Given the description of an element on the screen output the (x, y) to click on. 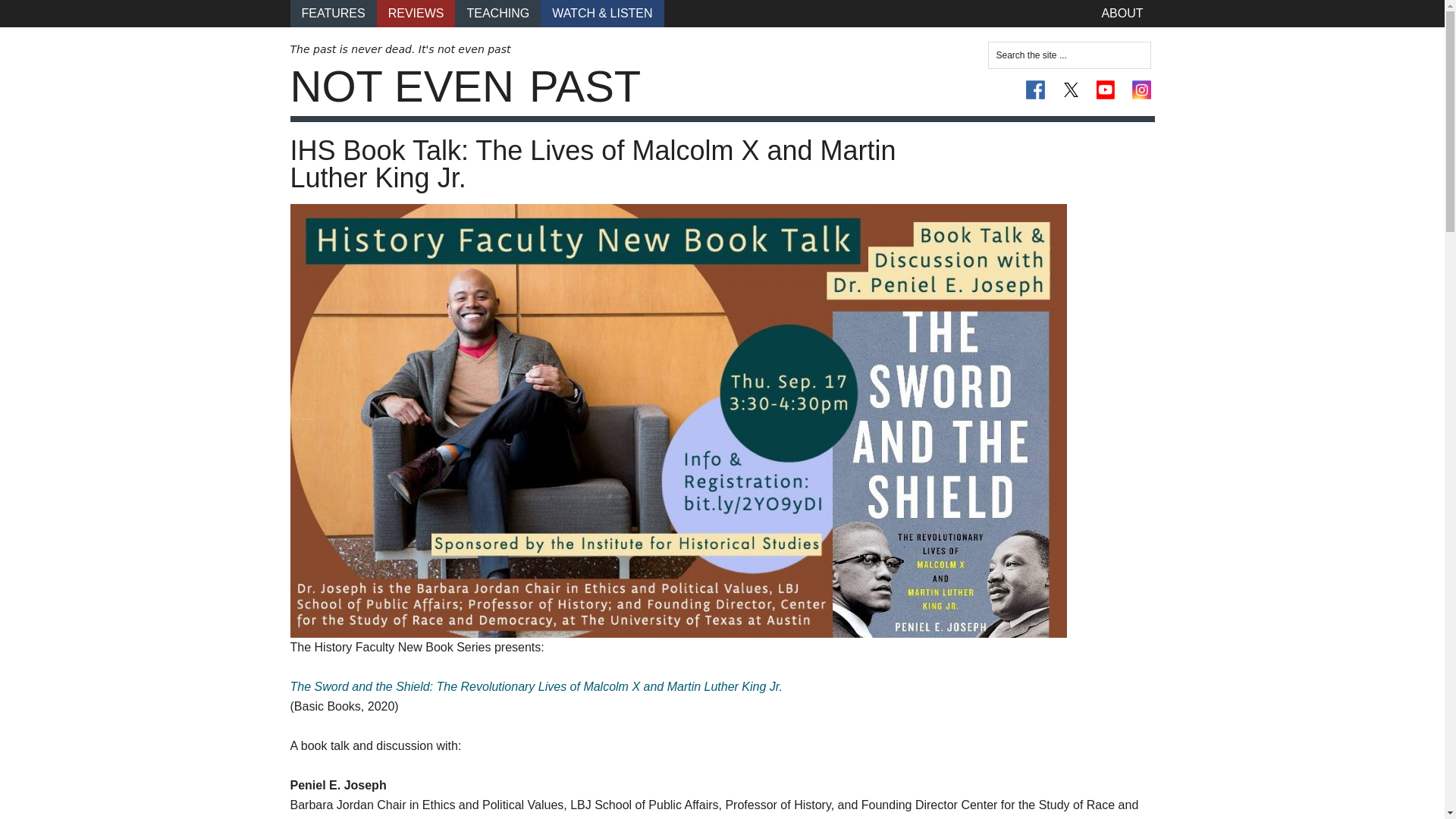
YouTube Channel (1105, 89)
NOT EVEN PAST (464, 85)
Instagram (1140, 89)
TEACHING (497, 13)
On Facebook (1035, 89)
On Twitter (1070, 89)
FEATURES (332, 13)
